Given the description of an element on the screen output the (x, y) to click on. 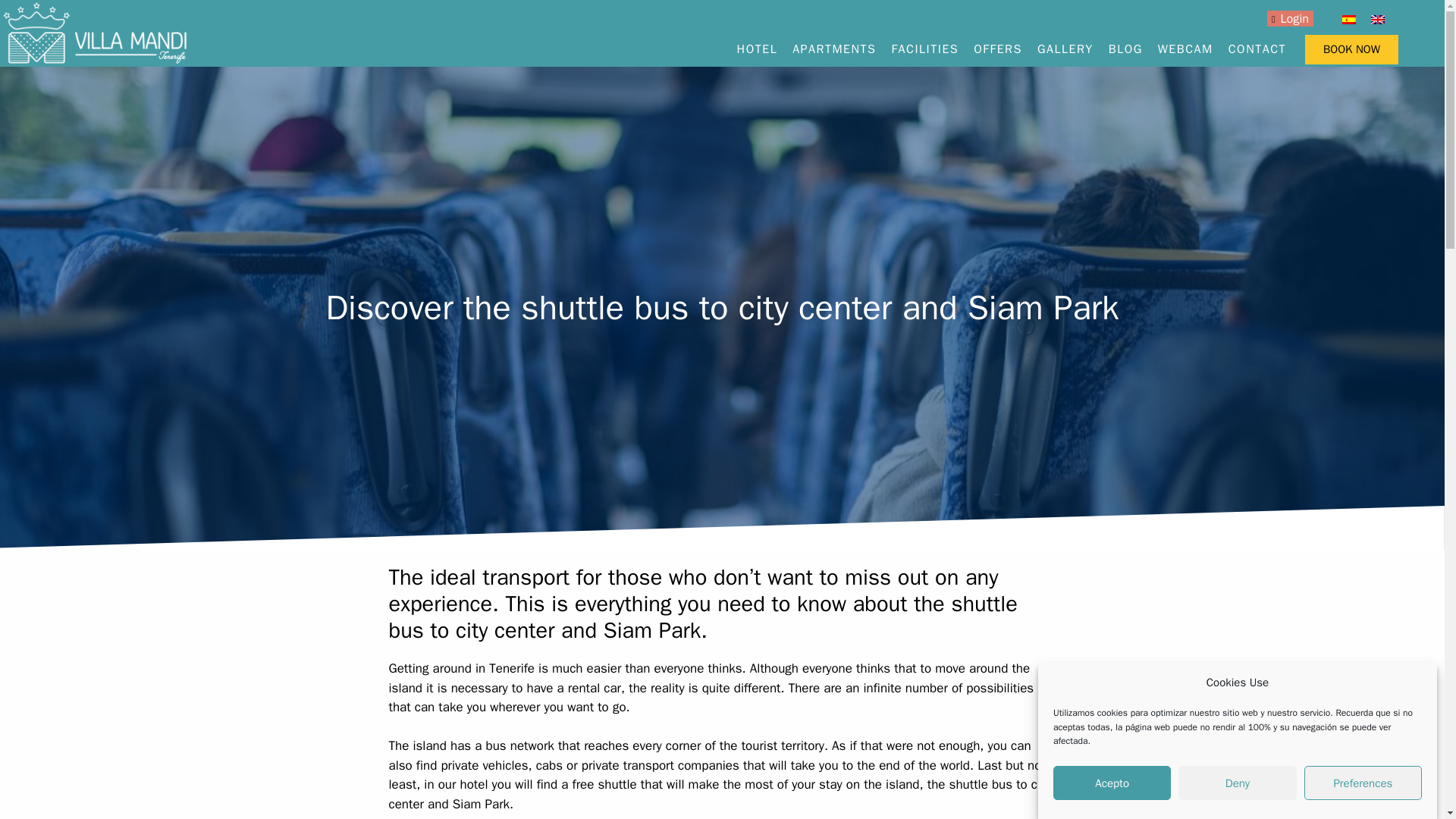
BOOK NOW (1350, 49)
Login (1289, 18)
FACILITIES (924, 48)
OFFERS (997, 48)
GALLERY (1065, 48)
HOTEL (757, 48)
APARTMENTS (834, 48)
Login (1289, 18)
BLOG (1126, 48)
CONTACT (1257, 48)
